Given the description of an element on the screen output the (x, y) to click on. 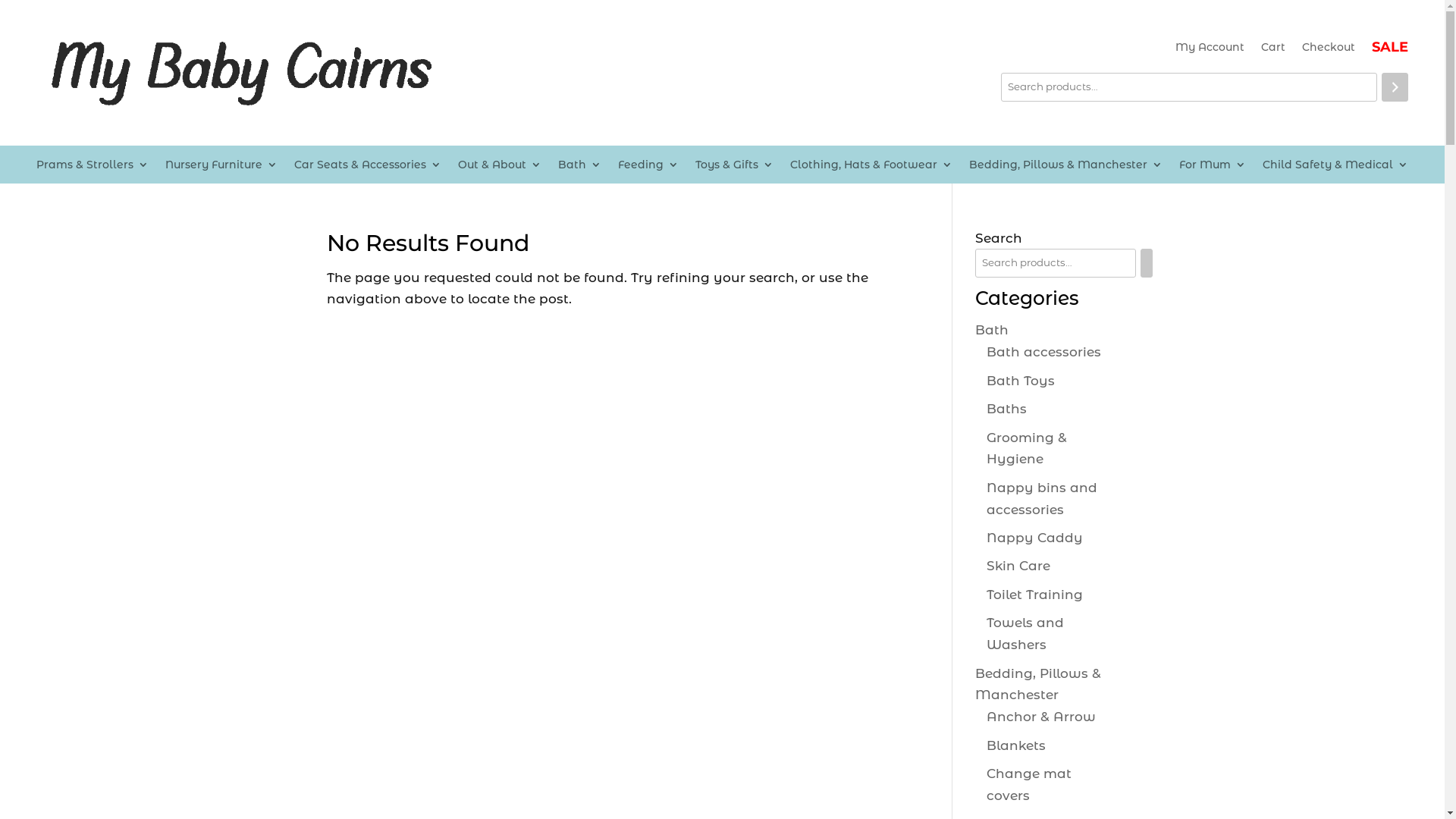
mybabycairnslogo_Black(1)grey Element type: hover (239, 72)
Out & About Element type: text (499, 167)
Towels and Washers Element type: text (1024, 633)
For Mum Element type: text (1212, 167)
Baths Element type: text (1006, 408)
Nappy bins and accessories Element type: text (1041, 498)
Grooming & Hygiene Element type: text (1026, 448)
Toilet Training Element type: text (1034, 594)
Bedding, Pillows & Manchester Element type: text (1065, 167)
Car Seats & Accessories Element type: text (367, 167)
Clothing, Hats & Footwear Element type: text (871, 167)
Cart Element type: text (1273, 49)
Nappy Caddy Element type: text (1034, 537)
Anchor & Arrow Element type: text (1040, 716)
Bath accessories Element type: text (1043, 351)
Skin Care Element type: text (1018, 565)
My Account Element type: text (1209, 49)
Bath Element type: text (991, 329)
Prams & Strollers Element type: text (92, 167)
Change mat covers Element type: text (1028, 784)
Bath Toys Element type: text (1020, 380)
Bedding, Pillows & Manchester Element type: text (1038, 683)
Blankets Element type: text (1015, 745)
SALE Element type: text (1389, 49)
Checkout Element type: text (1328, 49)
Child Safety & Medical Element type: text (1335, 167)
Nursery Furniture Element type: text (221, 167)
Bath Element type: text (579, 167)
Toys & Gifts Element type: text (734, 167)
Feeding Element type: text (648, 167)
